Given the description of an element on the screen output the (x, y) to click on. 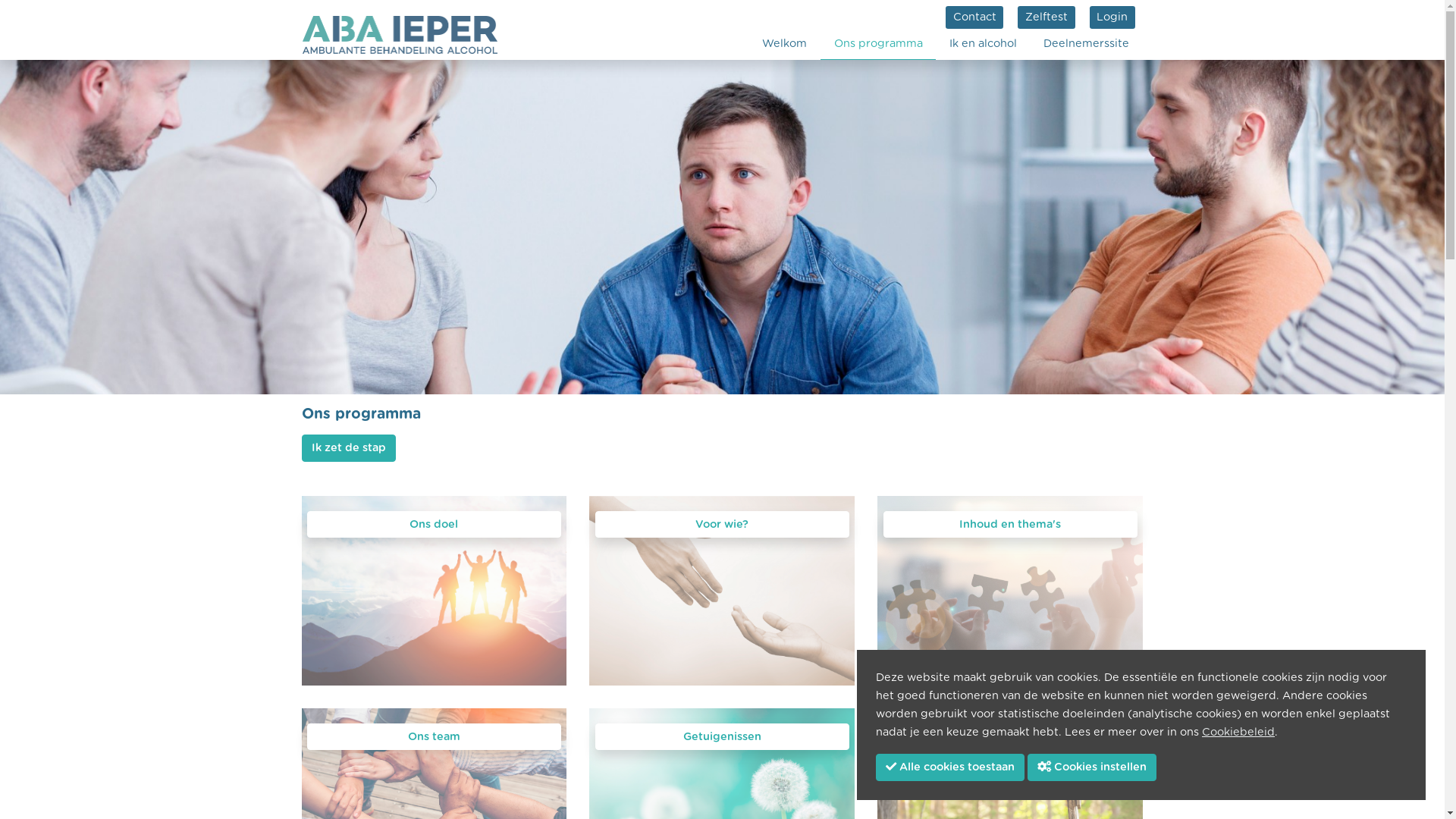
Ons doel Element type: text (434, 524)
Zelftest Element type: text (1045, 17)
Ik zet de stap Element type: text (348, 447)
Voor wie? Element type: text (722, 524)
Welkom Element type: text (784, 43)
Alle cookies toestaan Element type: text (949, 767)
Deelnemerssite Element type: text (1085, 43)
Ons programma Element type: text (877, 43)
Ik en alcohol Element type: text (982, 43)
Login Element type: text (1112, 17)
Contact Element type: text (974, 17)
Praktisch en aanmelden Element type: text (1010, 736)
Inhoud en thema's Element type: text (1010, 524)
Getuigenissen Element type: text (722, 736)
Ons team Element type: text (434, 736)
Cookies instellen Element type: text (1091, 767)
Cookiebeleid Element type: text (1237, 731)
